Given the description of an element on the screen output the (x, y) to click on. 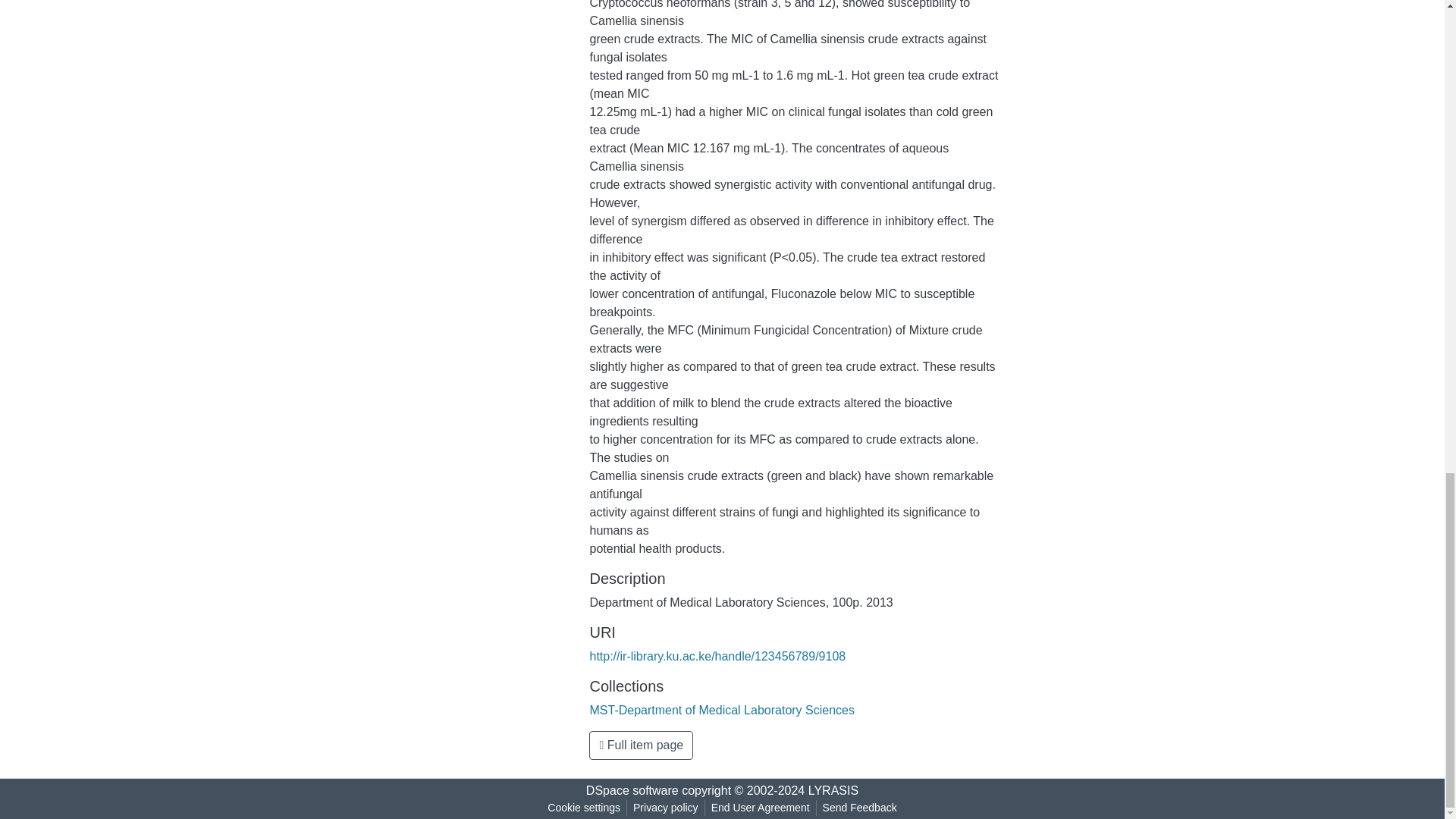
LYRASIS (833, 789)
MST-Department of Medical Laboratory Sciences (721, 709)
End User Agreement (759, 807)
Full item page (641, 745)
Send Feedback (859, 807)
Cookie settings (583, 807)
DSpace software (632, 789)
Privacy policy (665, 807)
